Given the description of an element on the screen output the (x, y) to click on. 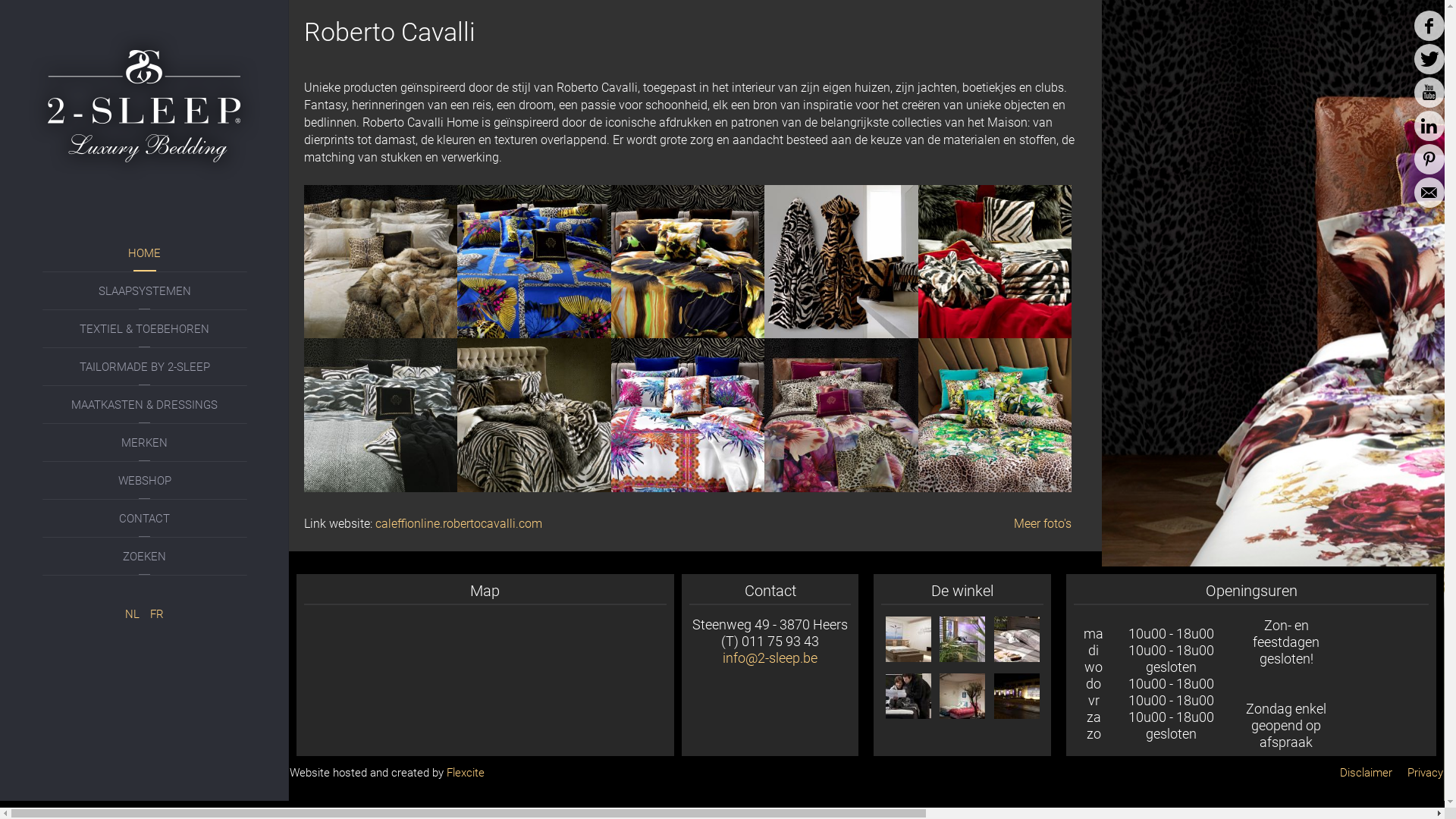
caleffionline.robertocavalli.com Element type: text (458, 523)
CONTACT Element type: text (144, 518)
Disclaimer Element type: text (1365, 772)
WEBSHOP Element type: text (144, 480)
ZOEKEN Element type: text (144, 556)
MAATKASTEN & DRESSINGS Element type: text (144, 404)
HOME Element type: text (144, 253)
TAILORMADE BY 2-SLEEP Element type: text (144, 366)
Privacy Element type: text (1425, 772)
SLAAPSYSTEMEN Element type: text (144, 291)
NL Element type: text (133, 614)
info@2-sleep.be Element type: text (769, 657)
 Flexcite Element type: text (463, 772)
MERKEN Element type: text (144, 442)
Meer foto's Element type: text (1042, 523)
FR Element type: text (156, 614)
TEXTIEL & TOEBEHOREN Element type: text (144, 329)
